Given the description of an element on the screen output the (x, y) to click on. 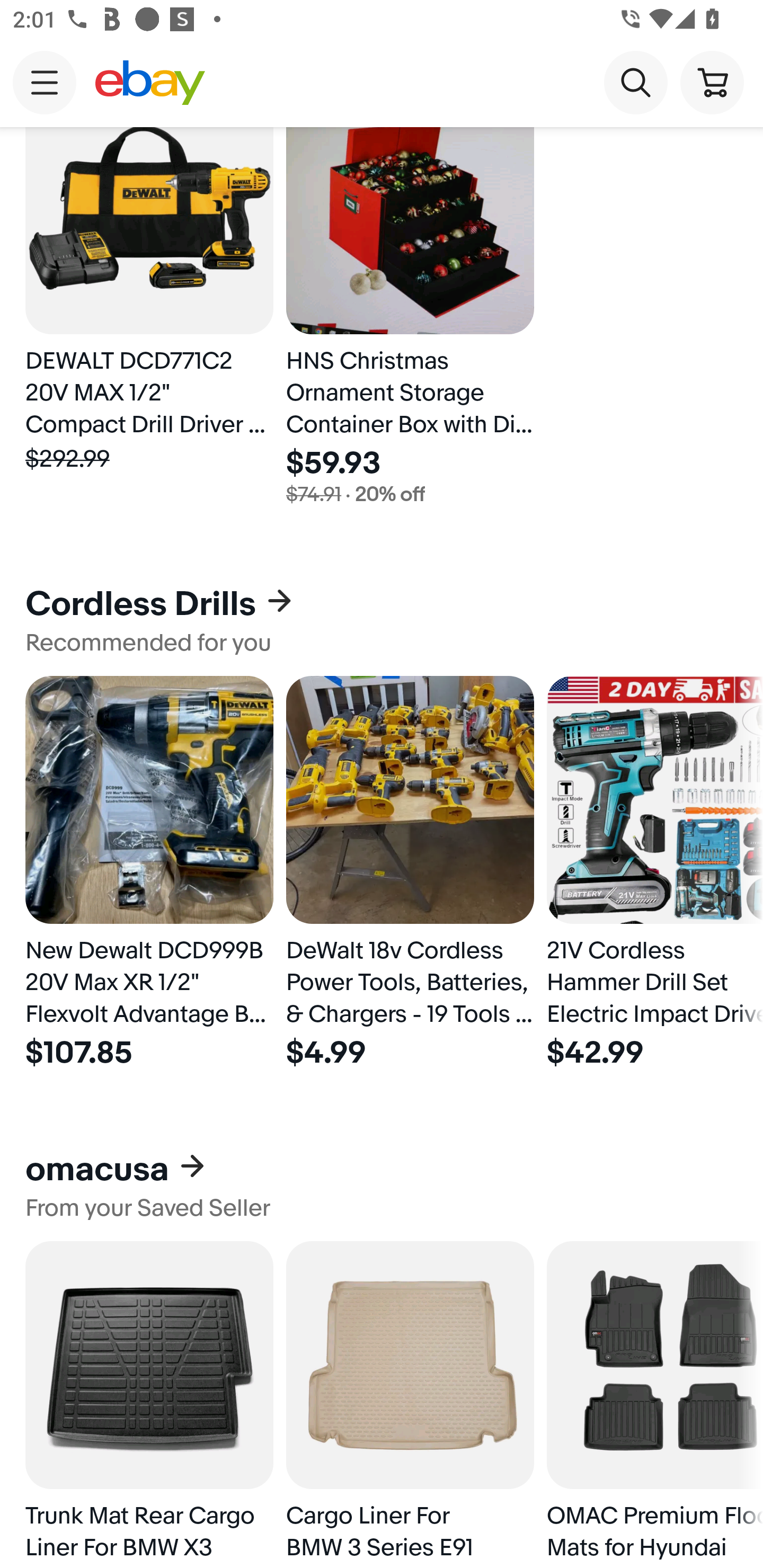
Main navigation, open (44, 82)
Search (635, 81)
Cart button shopping cart (711, 81)
Cordless Drills   Recommended for you (381, 619)
omacusa   From your Saved Seller (381, 1184)
